Given the description of an element on the screen output the (x, y) to click on. 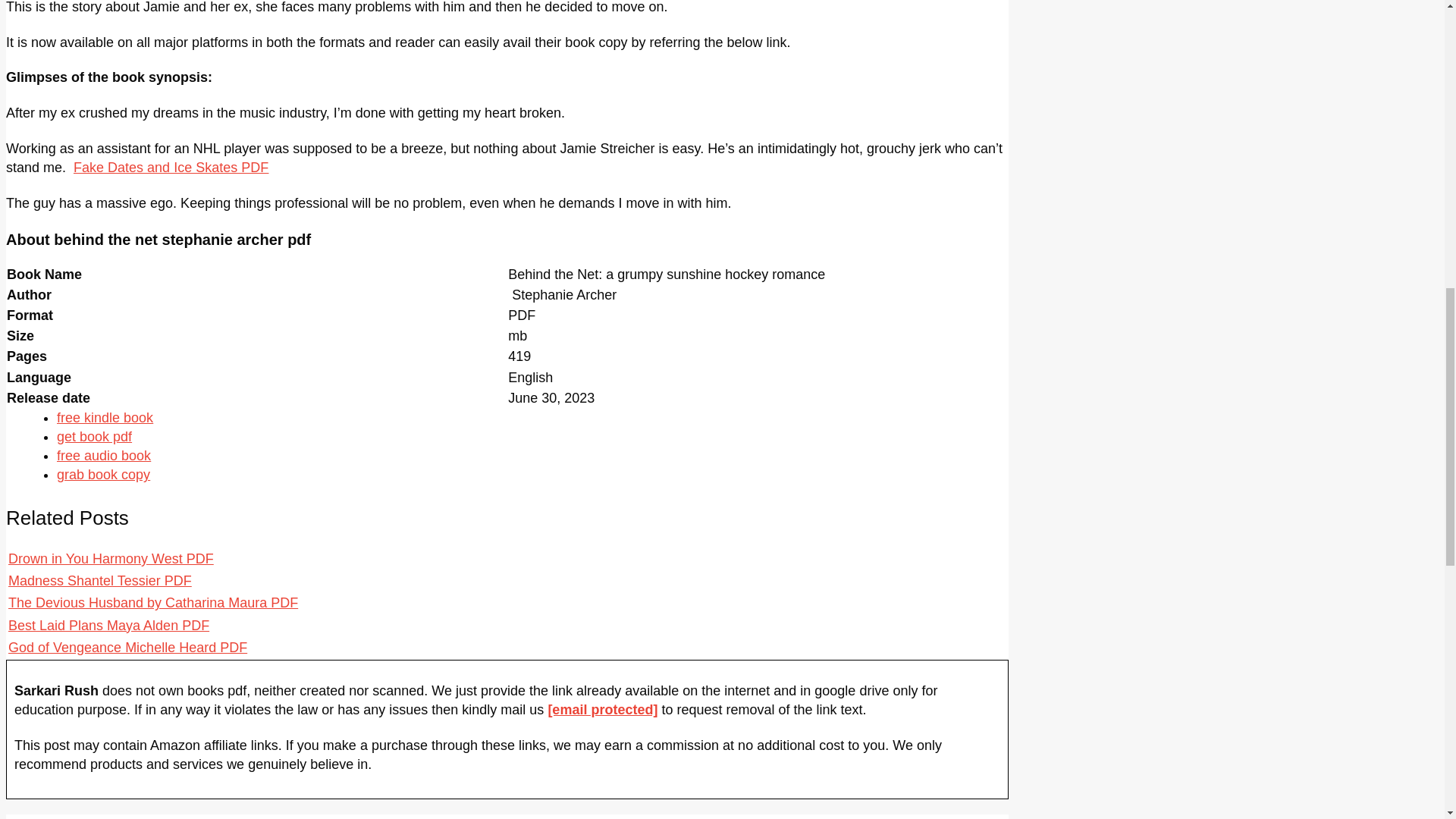
get book pdf (94, 436)
Best Laid Plans Maya Alden PDF (108, 625)
free audio book (103, 455)
God of Vengeance Michelle Heard PDF (127, 647)
Fake Dates and Ice Skates PDF (170, 167)
Madness Shantel Tessier PDF (100, 580)
The Devious Husband by Catharina Maura PDF (153, 602)
Drown in You Harmony West PDF (111, 558)
grab book copy (102, 474)
free kindle book (104, 417)
